Given the description of an element on the screen output the (x, y) to click on. 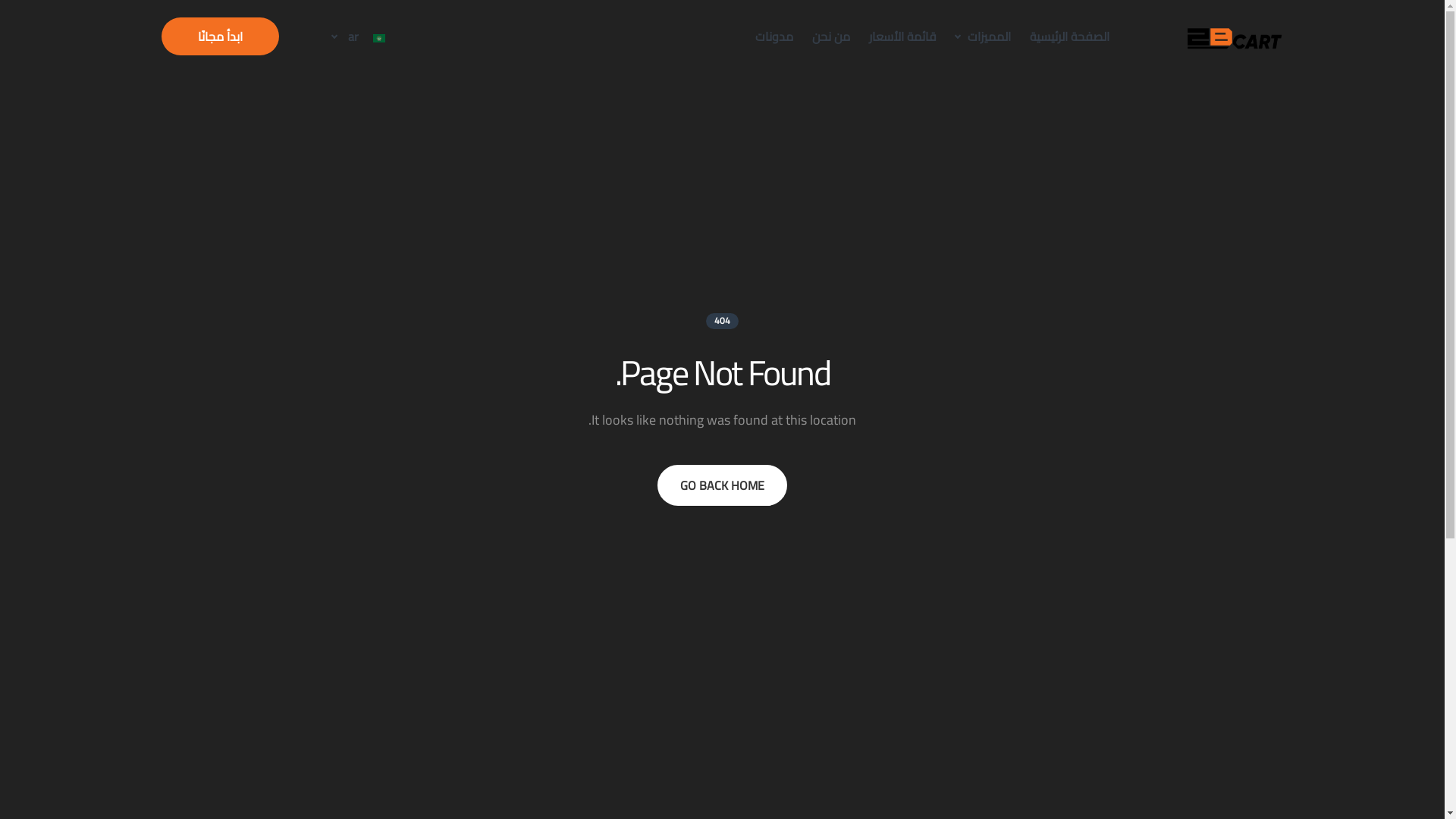
GO BACK HOME Element type: text (722, 484)
